Given the description of an element on the screen output the (x, y) to click on. 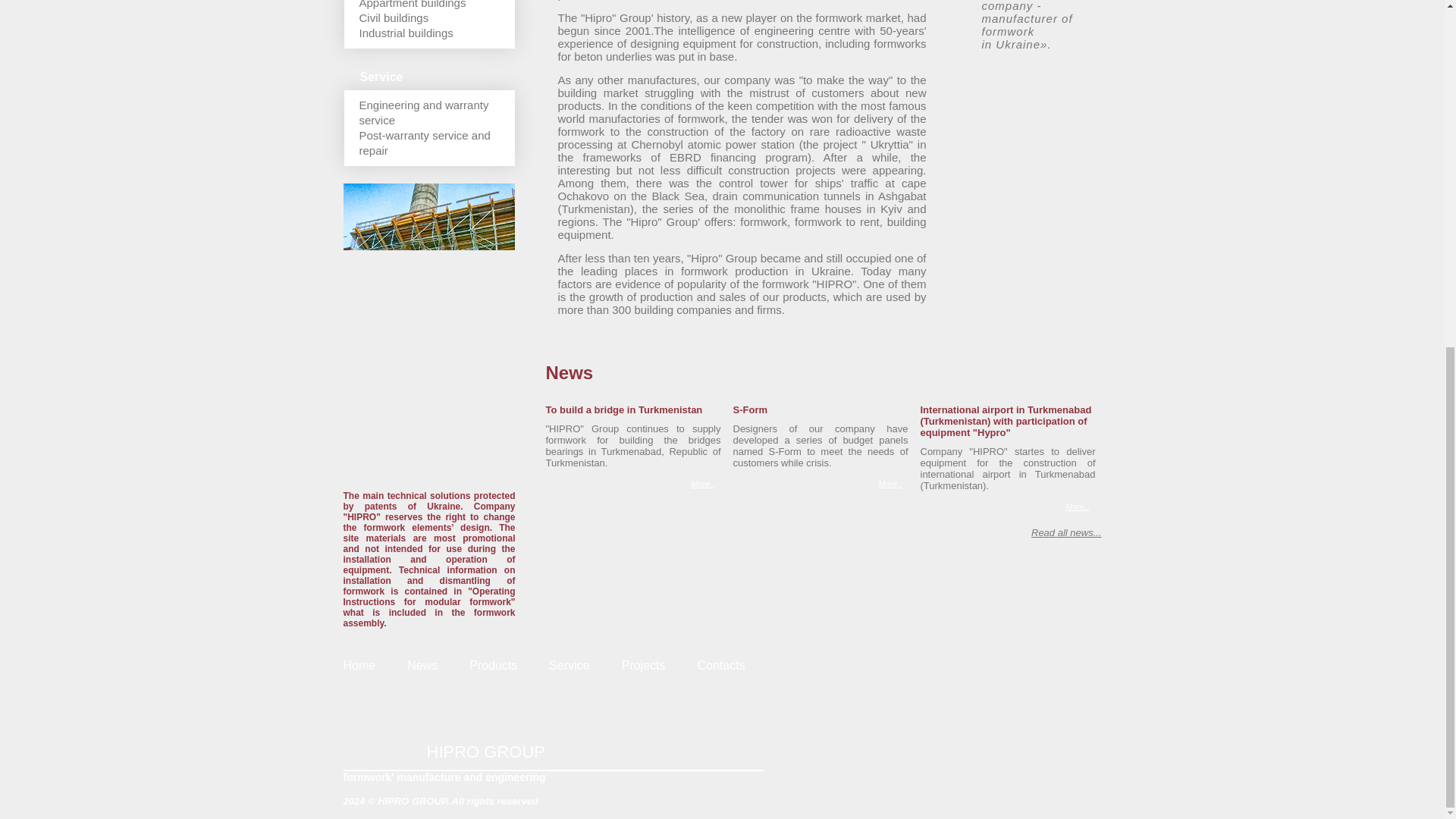
Industrial buildings (405, 32)
More.. (874, 484)
Civil buildings (394, 17)
Service (568, 665)
Engineering and warranty service (424, 112)
Post-warranty service and repair (424, 142)
Civil buildings (394, 17)
Appartment buildings (412, 4)
More.. (1060, 506)
News (422, 665)
